Given the description of an element on the screen output the (x, y) to click on. 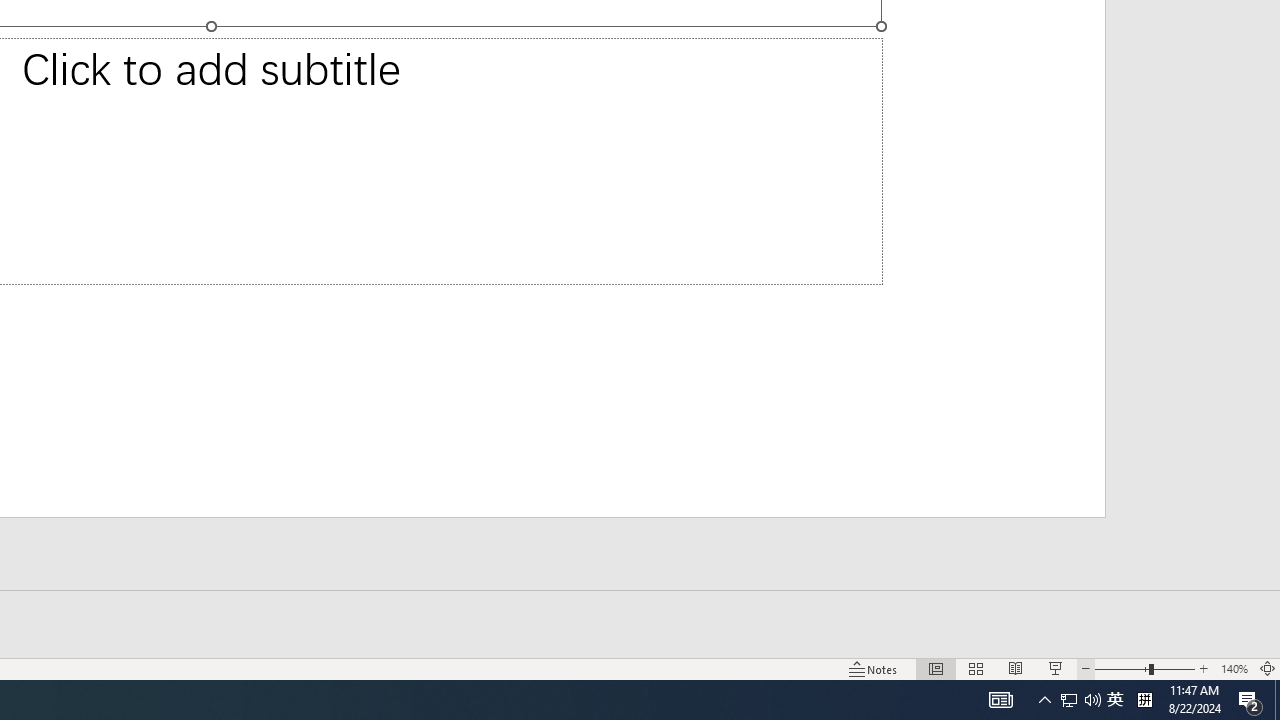
Zoom 140% (1234, 668)
